Given the description of an element on the screen output the (x, y) to click on. 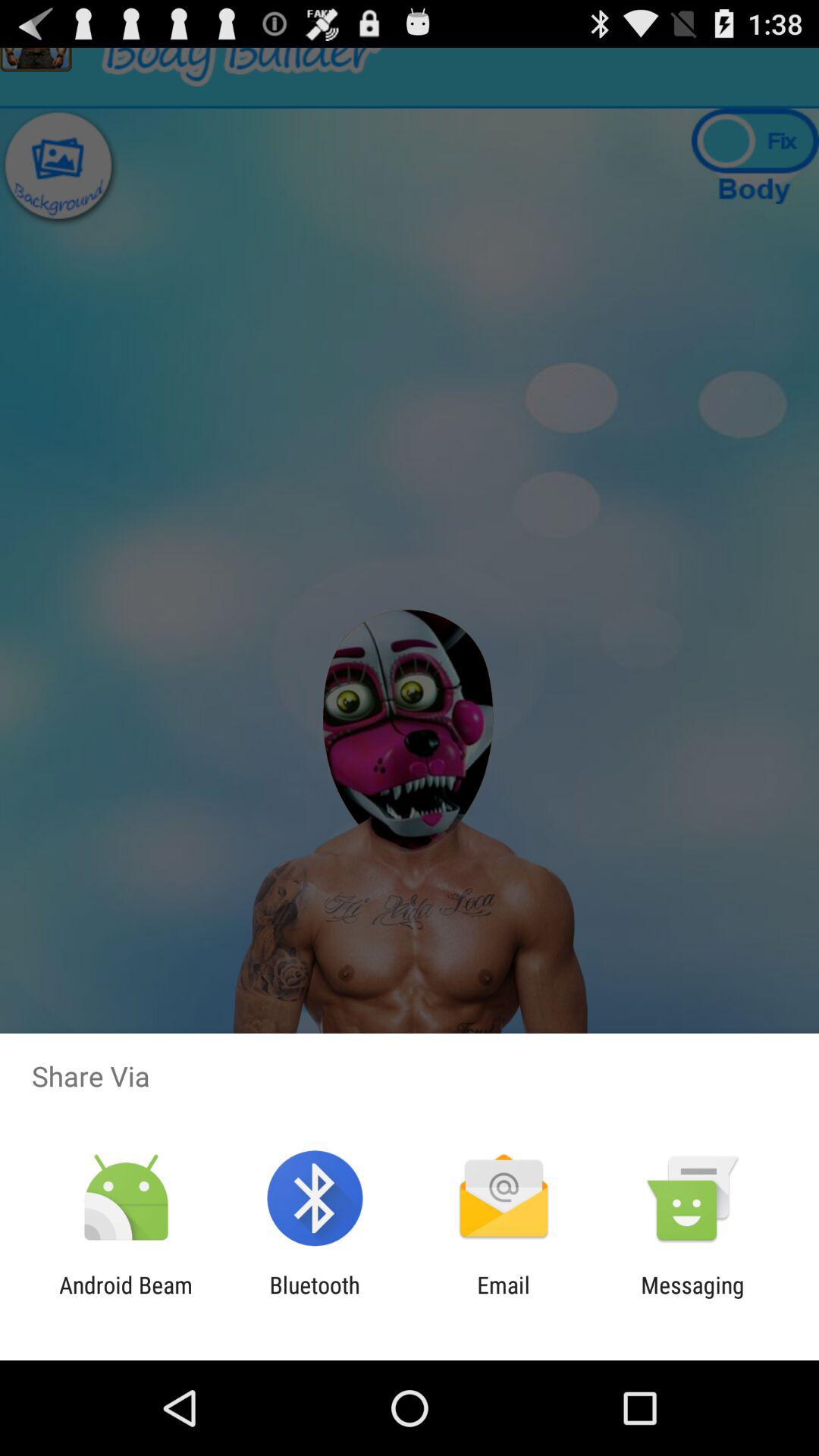
choose item to the left of bluetooth icon (125, 1298)
